Given the description of an element on the screen output the (x, y) to click on. 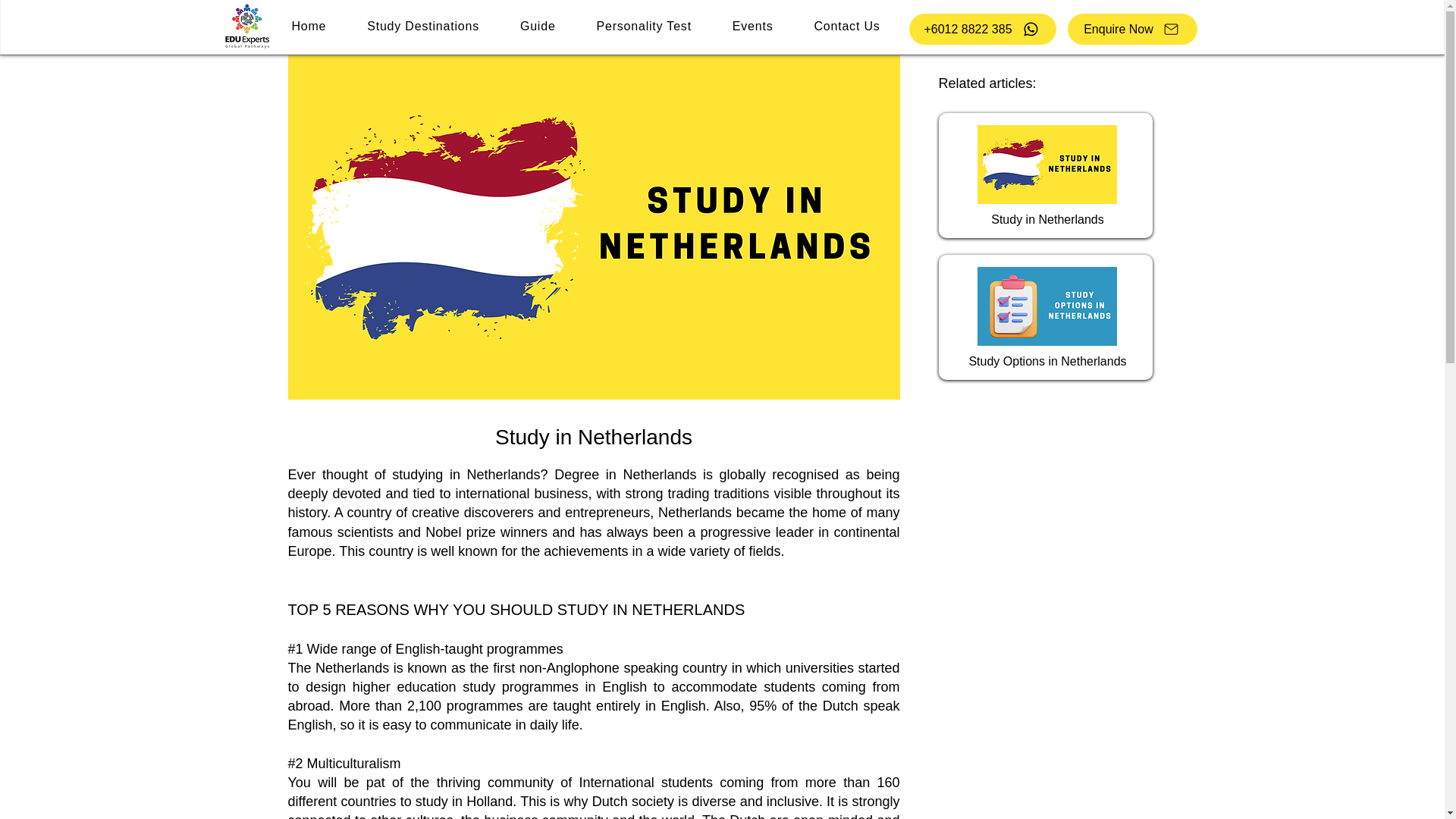
Contact Us (846, 26)
Edu Experts Sdn Bhd Malaysia (245, 26)
Home (309, 26)
Dutch society (633, 801)
Enquire Now (1131, 29)
Guide (537, 26)
Events (752, 26)
Personality Test (644, 26)
achievements (585, 550)
Study Destinations (422, 26)
